Given the description of an element on the screen output the (x, y) to click on. 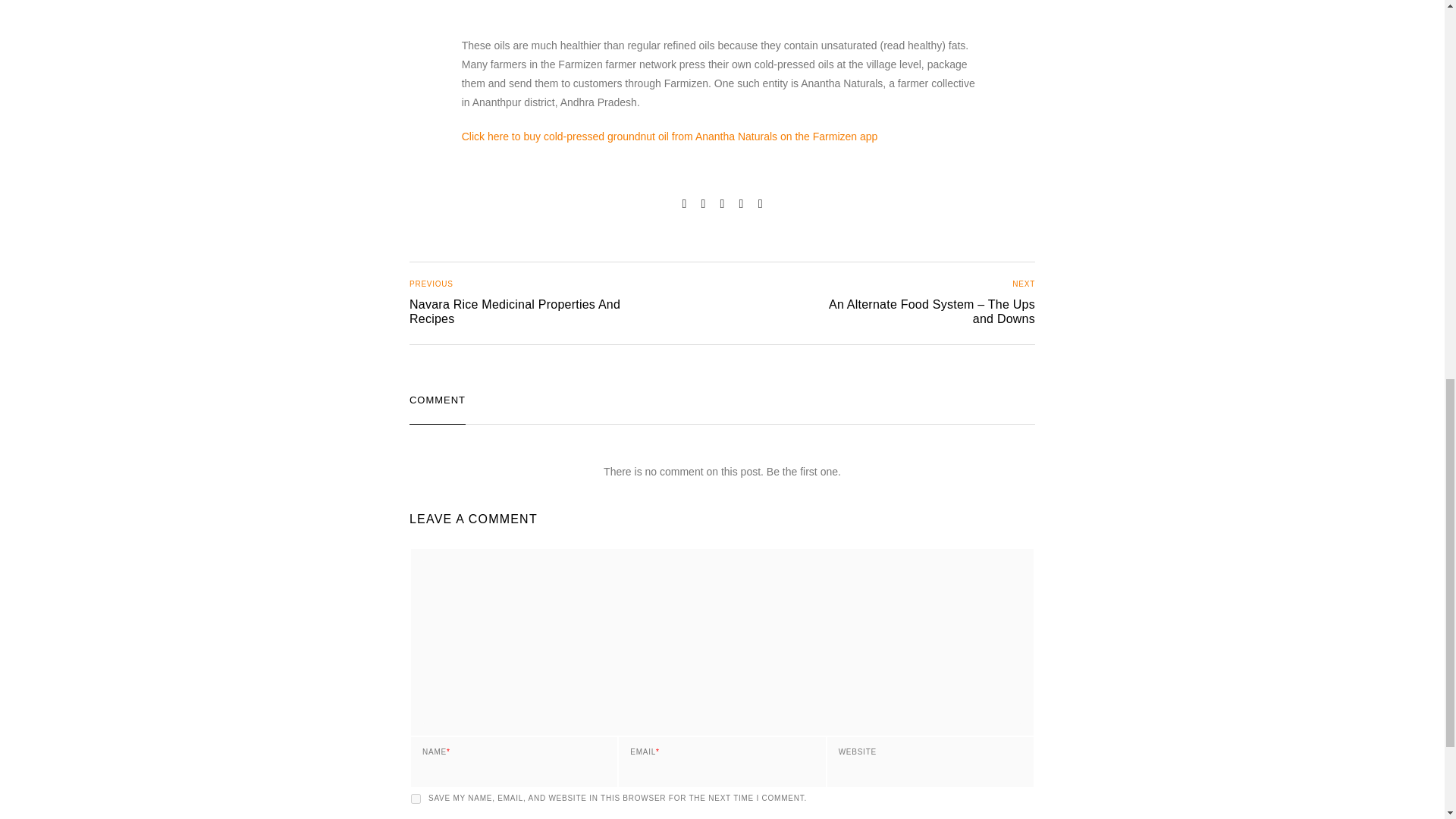
yes (500, 303)
